Given the description of an element on the screen output the (x, y) to click on. 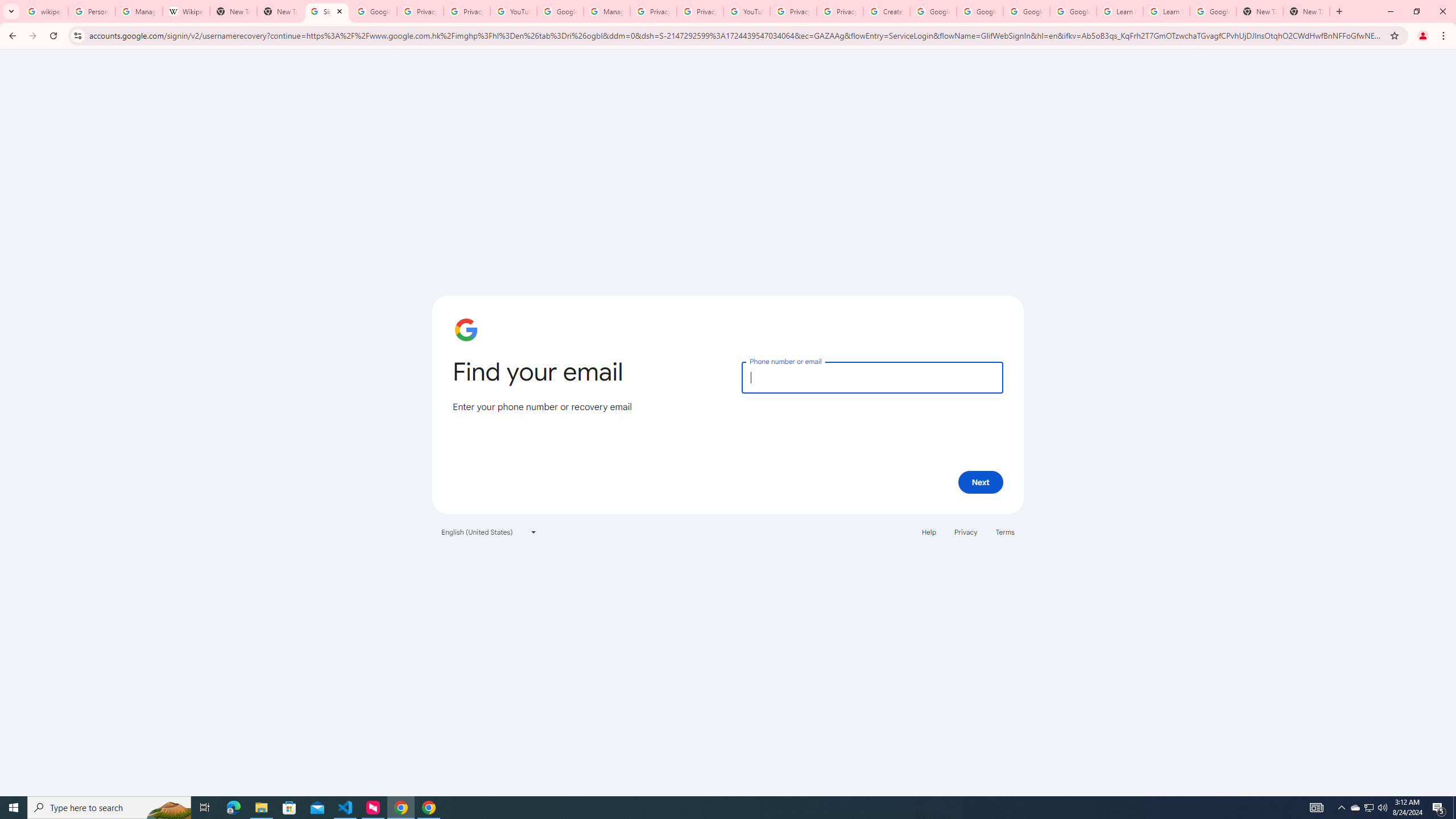
Manage your Location History - Google Search Help (138, 11)
New Tab (1306, 11)
